Given the description of an element on the screen output the (x, y) to click on. 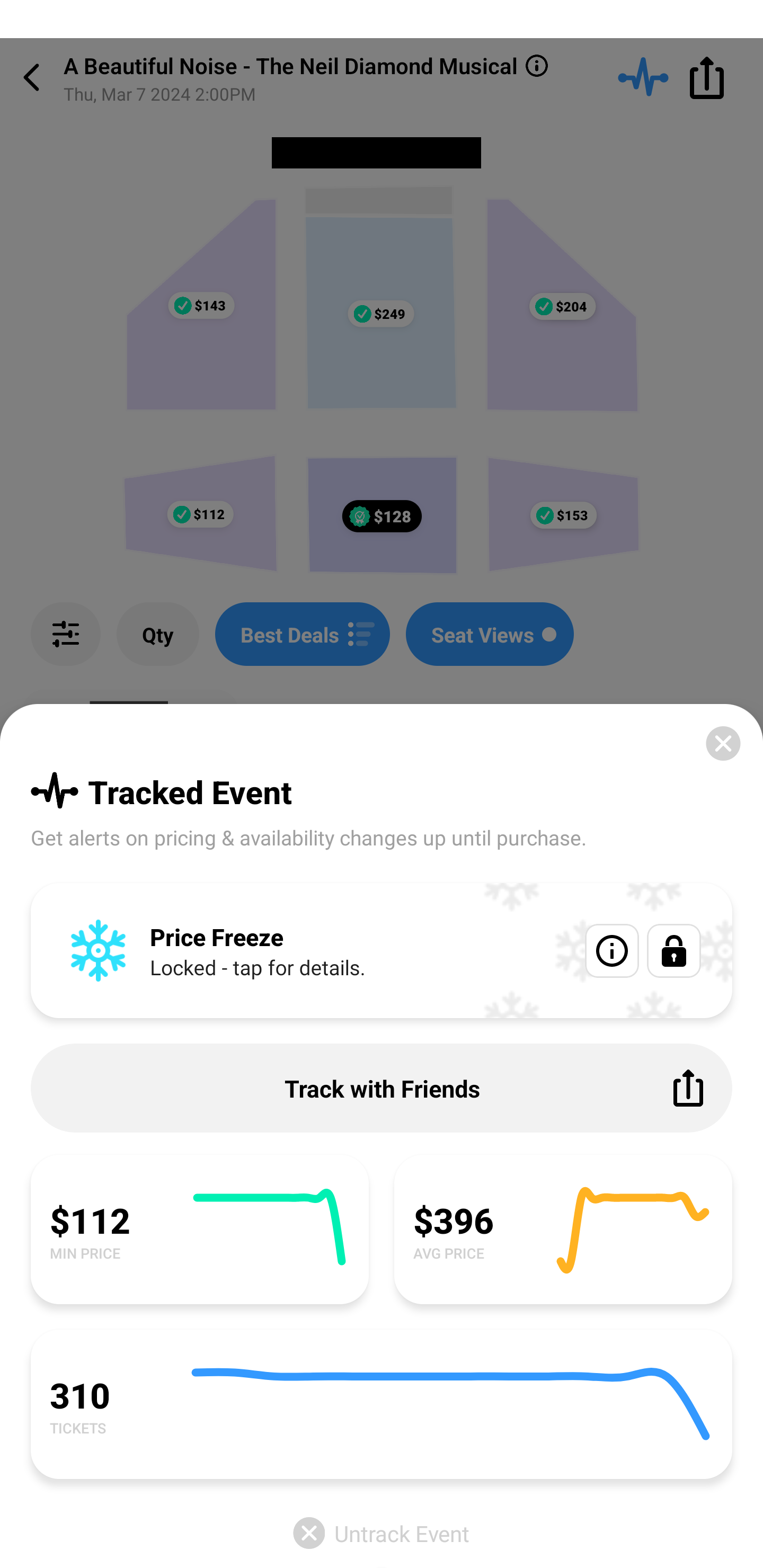
Track with Friends (381, 1088)
Untrack Event (381, 1533)
